Given the description of an element on the screen output the (x, y) to click on. 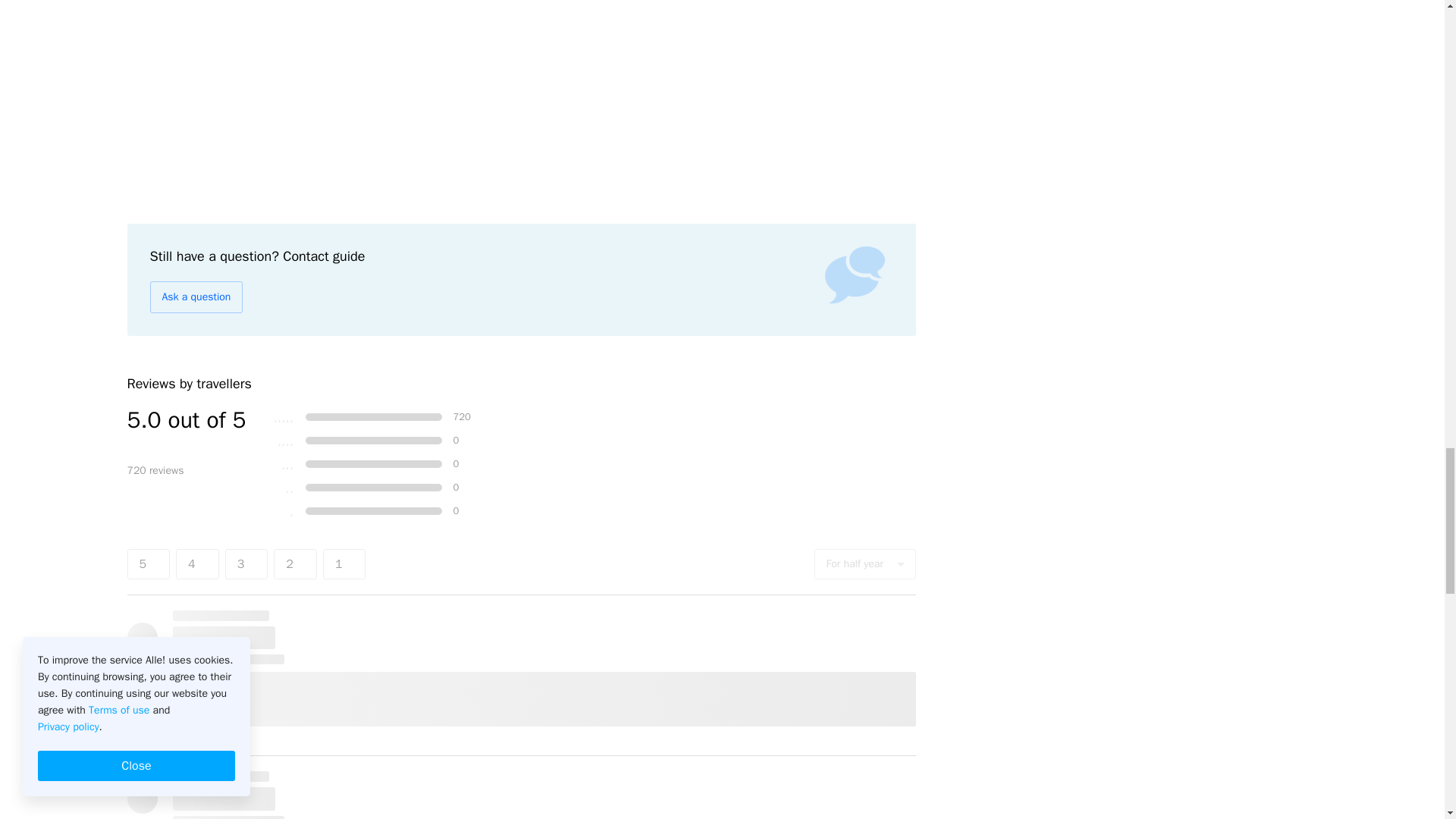
4 (197, 563)
5 (149, 563)
2 (295, 563)
3-Hour Orientation Walking Tour of Buda and Pest - photo 5 (521, 95)
1 (344, 563)
3-Hour Orientation Walking Tour of Buda and Pest - photo 6 (789, 95)
3 (246, 563)
3-Hour Orientation Walking Tour of Buda and Pest - photo 4 (253, 95)
